Given the description of an element on the screen output the (x, y) to click on. 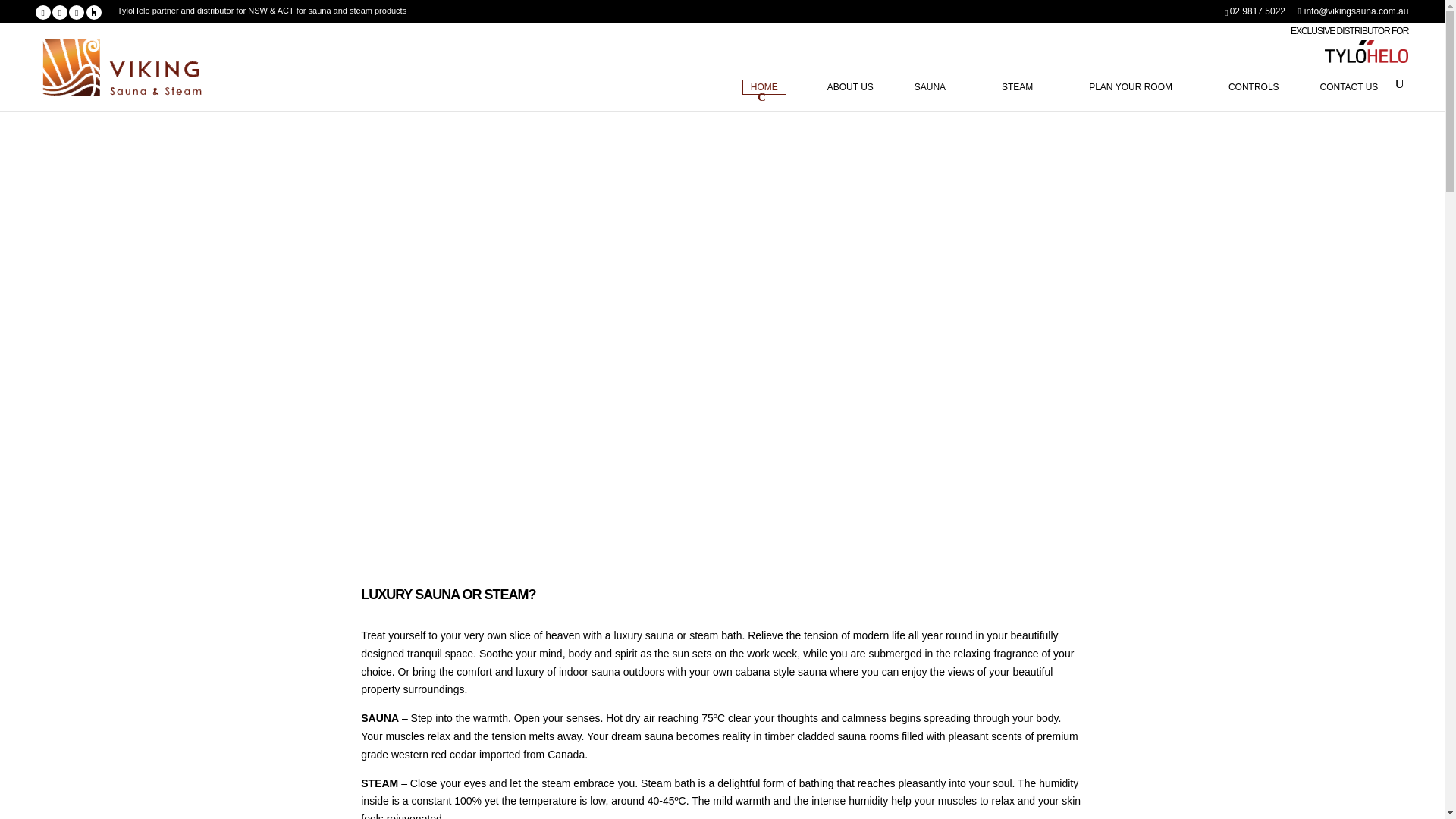
STEAM (1024, 105)
CONTACT US (1348, 105)
SAUNA (937, 105)
PLAN YOUR ROOM (1138, 105)
HOME (764, 87)
ABOUT US (850, 105)
CONTROLS (1253, 105)
